Given the description of an element on the screen output the (x, y) to click on. 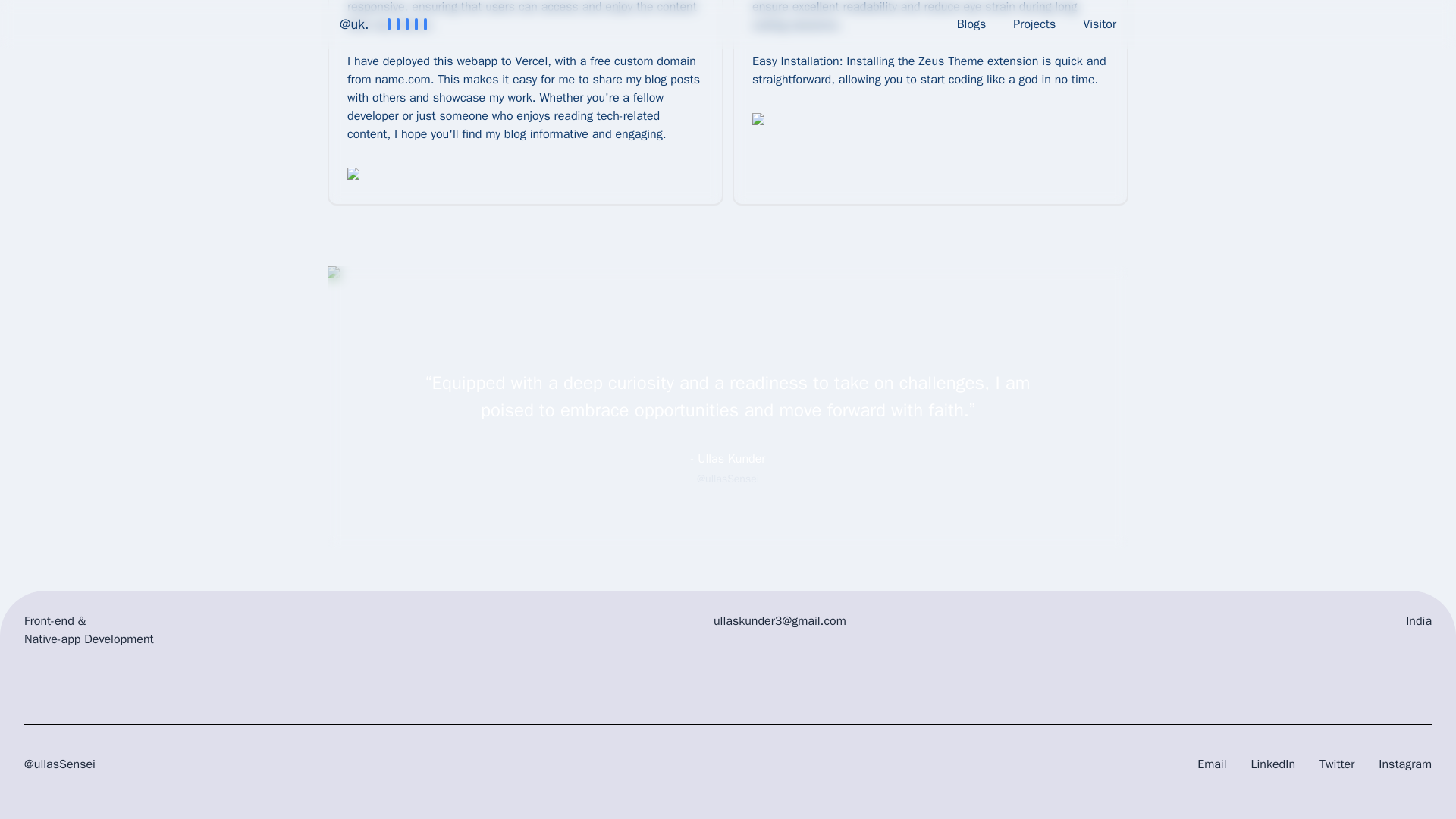
Instagram (1404, 771)
LinkedIn (1272, 771)
Twitter (1336, 771)
